Given the description of an element on the screen output the (x, y) to click on. 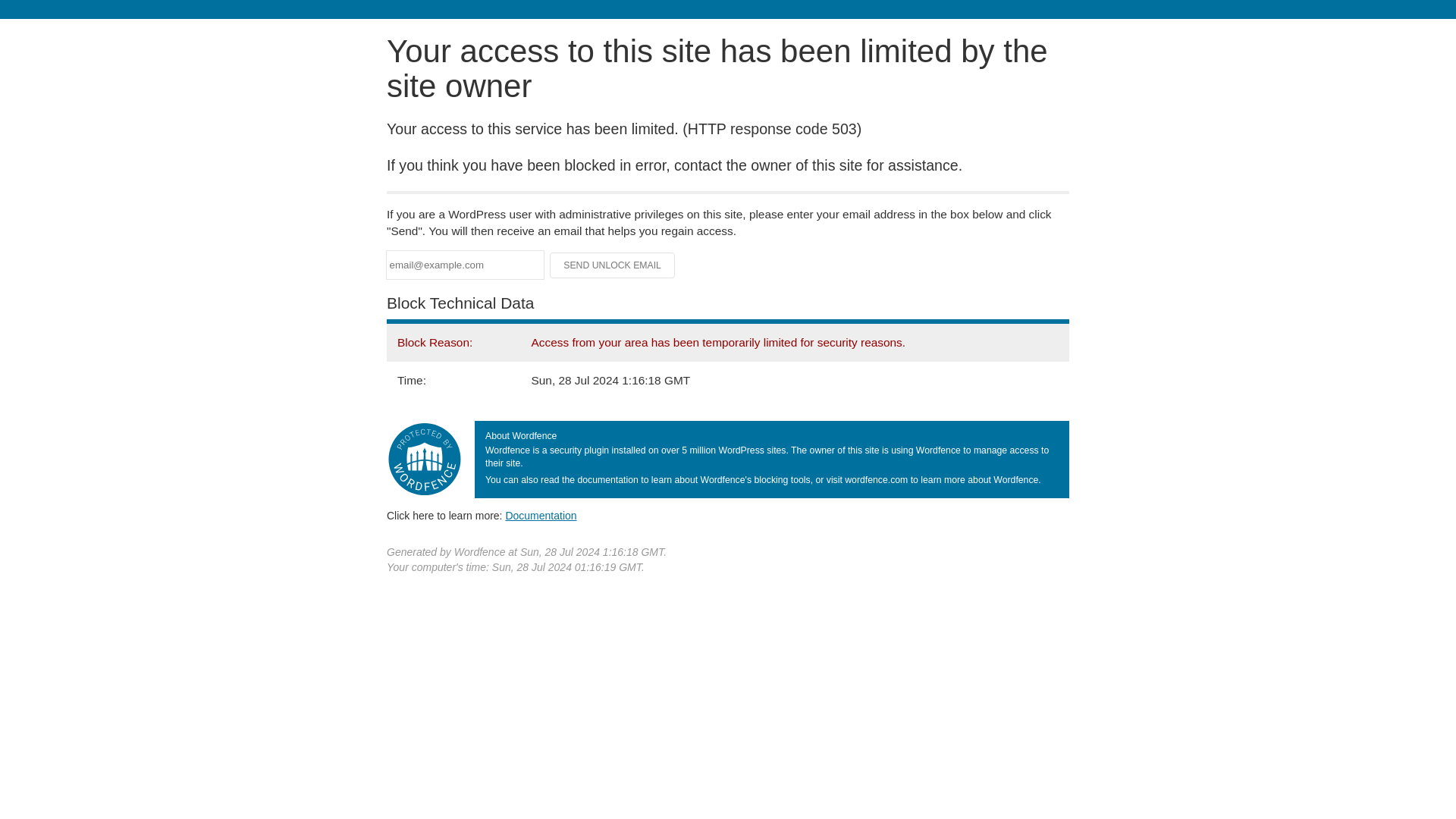
Send Unlock Email (612, 265)
Documentation (540, 515)
Send Unlock Email (612, 265)
